Given the description of an element on the screen output the (x, y) to click on. 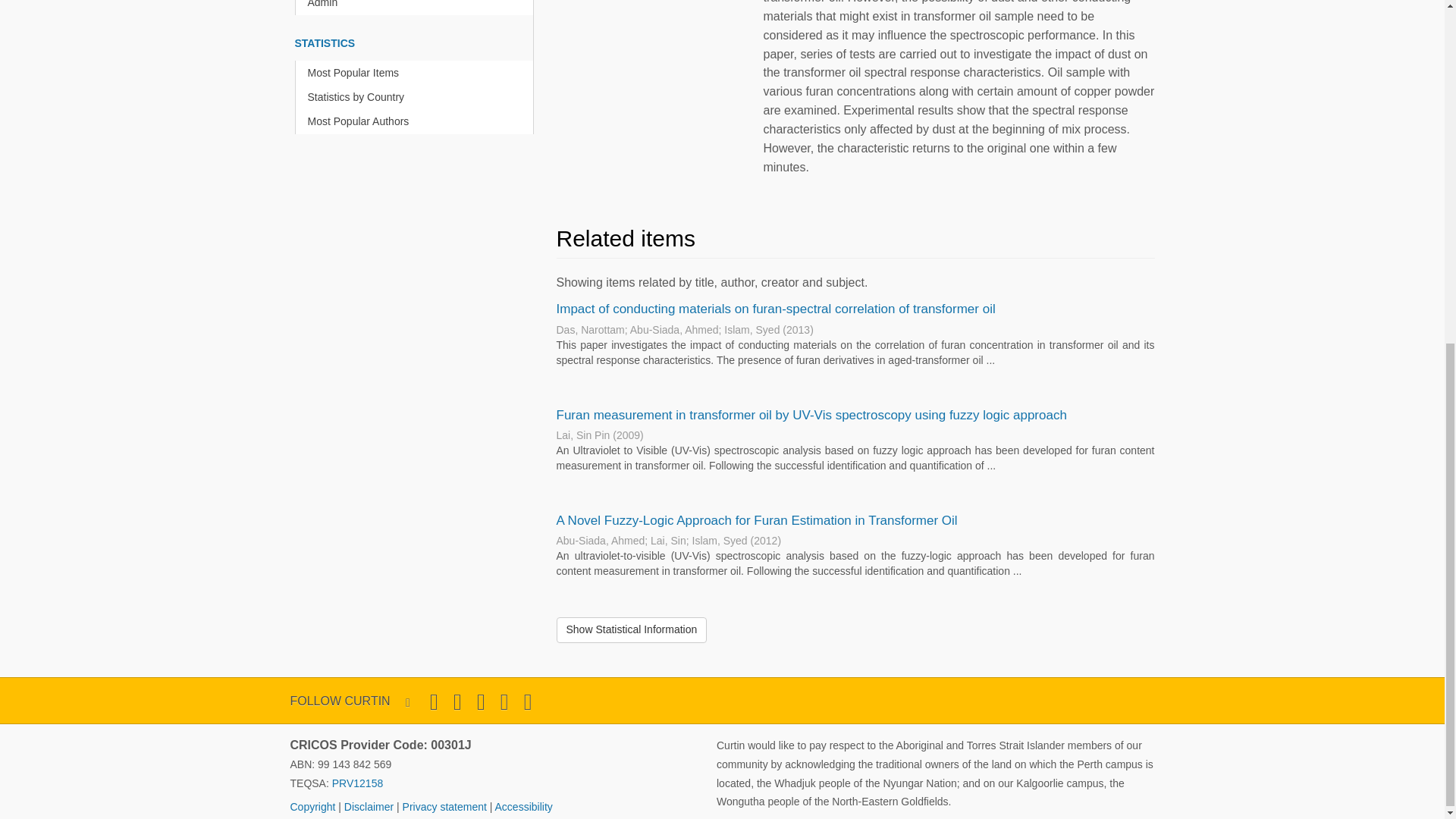
Show Statistical Information (631, 629)
Admin (416, 7)
Most Popular Items (416, 72)
